Given the description of an element on the screen output the (x, y) to click on. 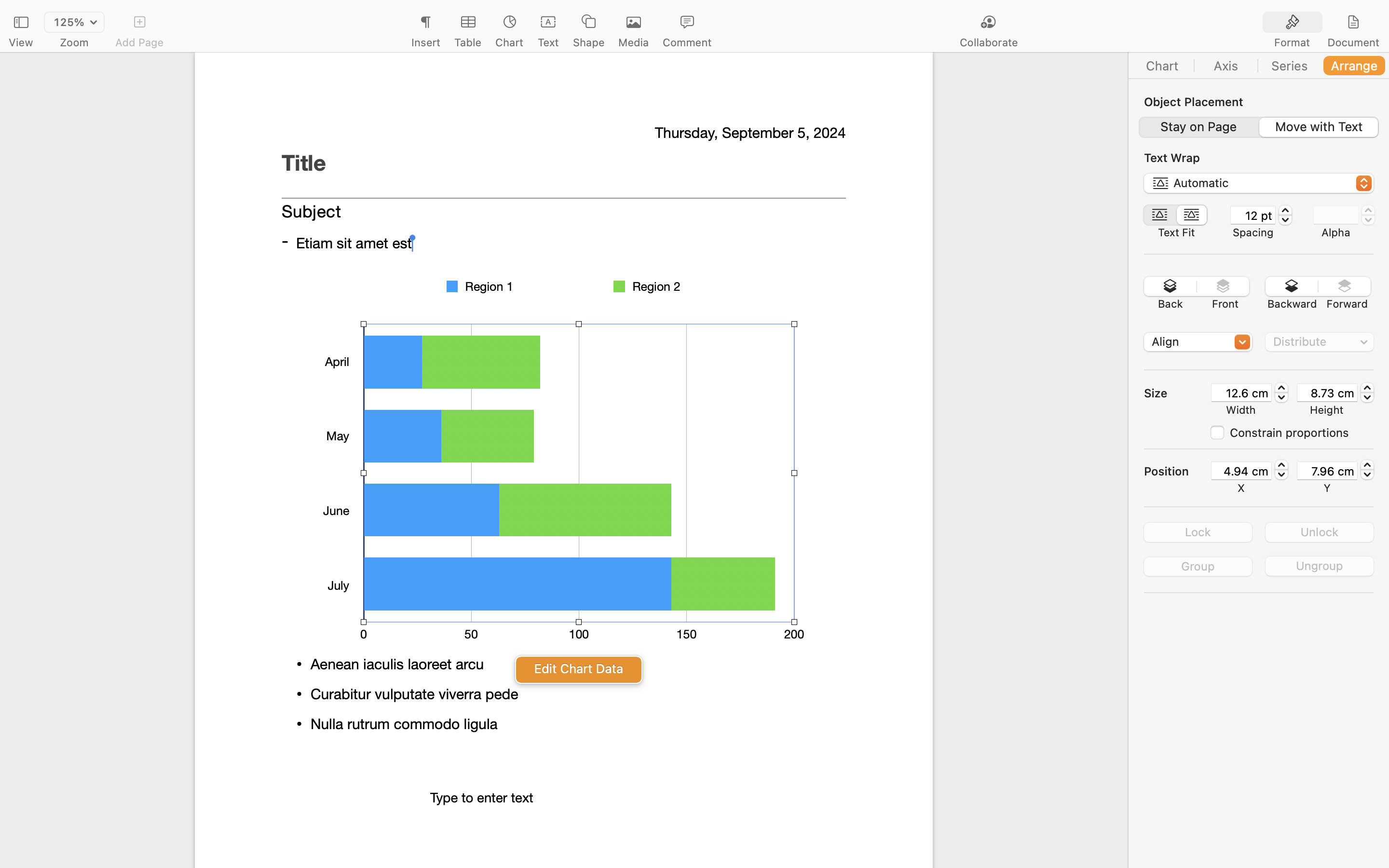
Document Element type: AXStaticText (1352, 42)
View Element type: AXStaticText (20, 42)
7.96 cm Element type: AXTextField (1327, 470)
Y Element type: AXStaticText (1327, 487)
4.94 cm Element type: AXTextField (1241, 470)
